Given the description of an element on the screen output the (x, y) to click on. 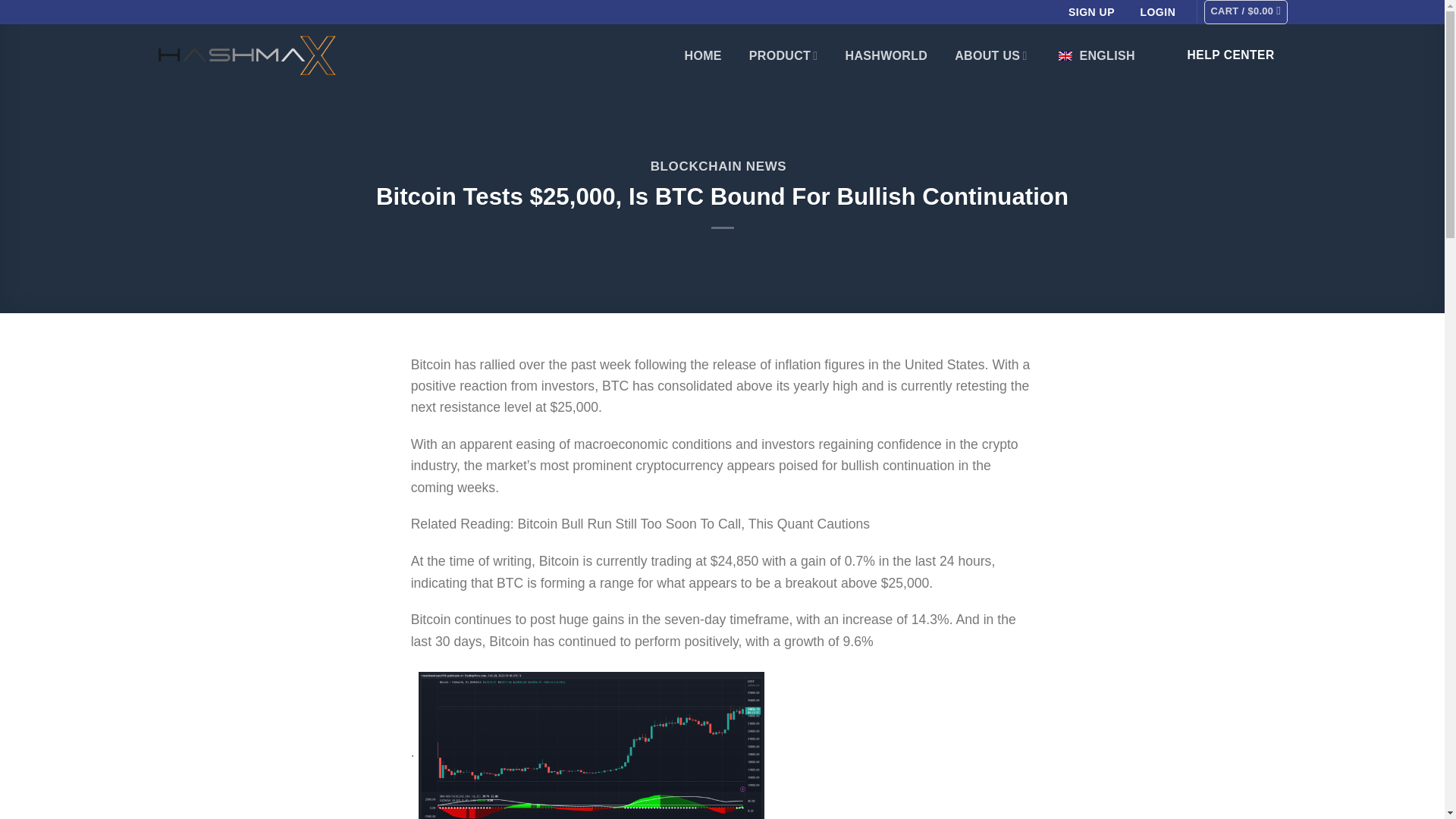
PRODUCT (783, 55)
HashMax - Crypto Mining Solution (246, 55)
LOGIN (1157, 11)
BLOCKCHAIN NEWS (718, 165)
ABOUT US (990, 55)
HASHWORLD (886, 55)
ENGLISH (1094, 55)
HOME (703, 55)
Cart (1245, 12)
SIGN UP (1091, 11)
